Given the description of an element on the screen output the (x, y) to click on. 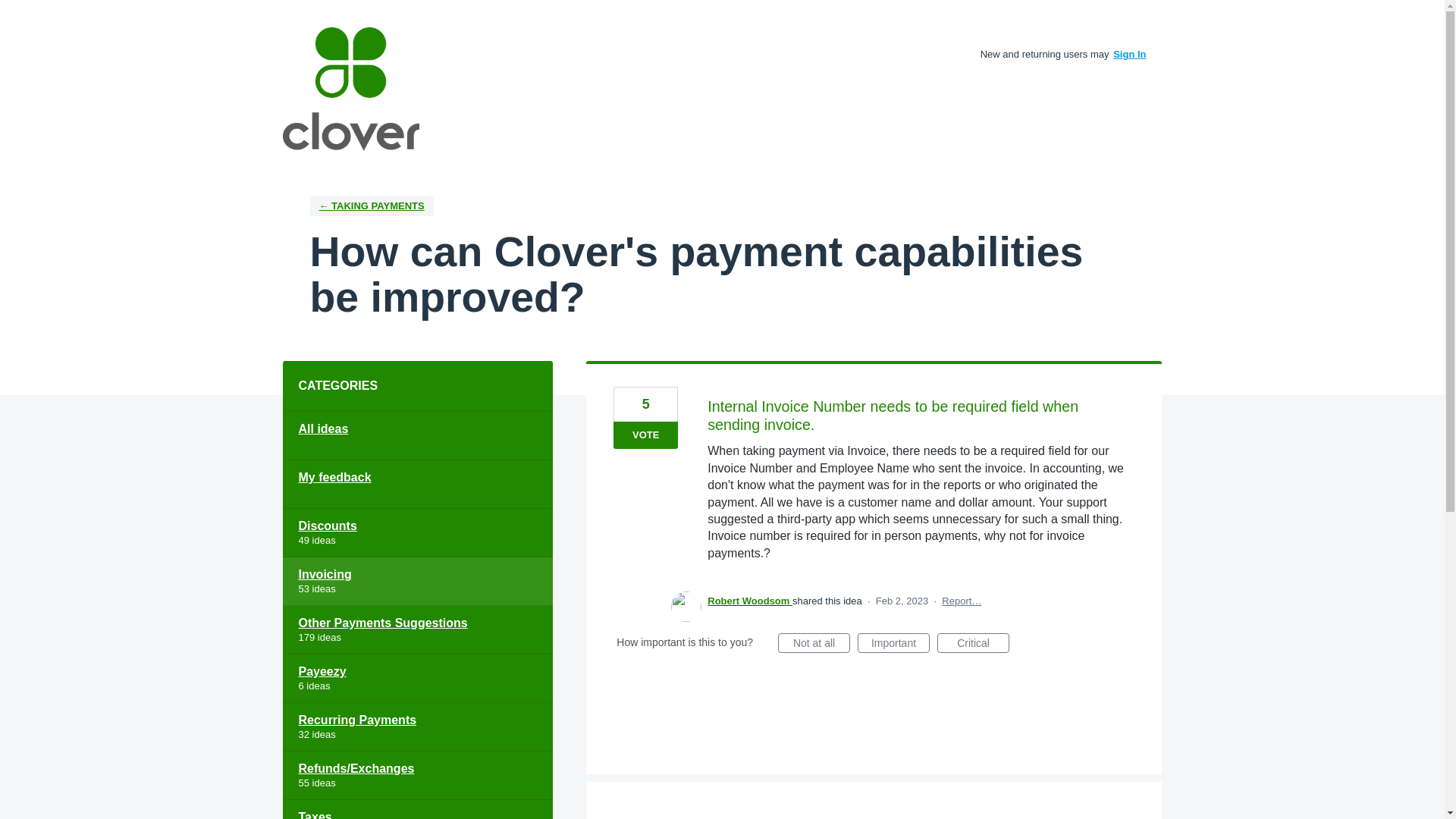
Clover UserVoice (350, 88)
Sign In (1129, 53)
VOTE (645, 434)
View all ideas in category Other Payments Suggestions (417, 630)
View all ideas in category Payeezy (417, 678)
Payeezy (417, 678)
Invoicing (417, 581)
View all ideas in category Invoicing (417, 581)
Skip to content (12, 12)
View all ideas in category Taxes (417, 809)
Recurring Payments (417, 726)
Other Payments Suggestions (417, 630)
View all ideas in category Recurring Payments (417, 726)
Taxes (417, 809)
Discounts (417, 532)
